Given the description of an element on the screen output the (x, y) to click on. 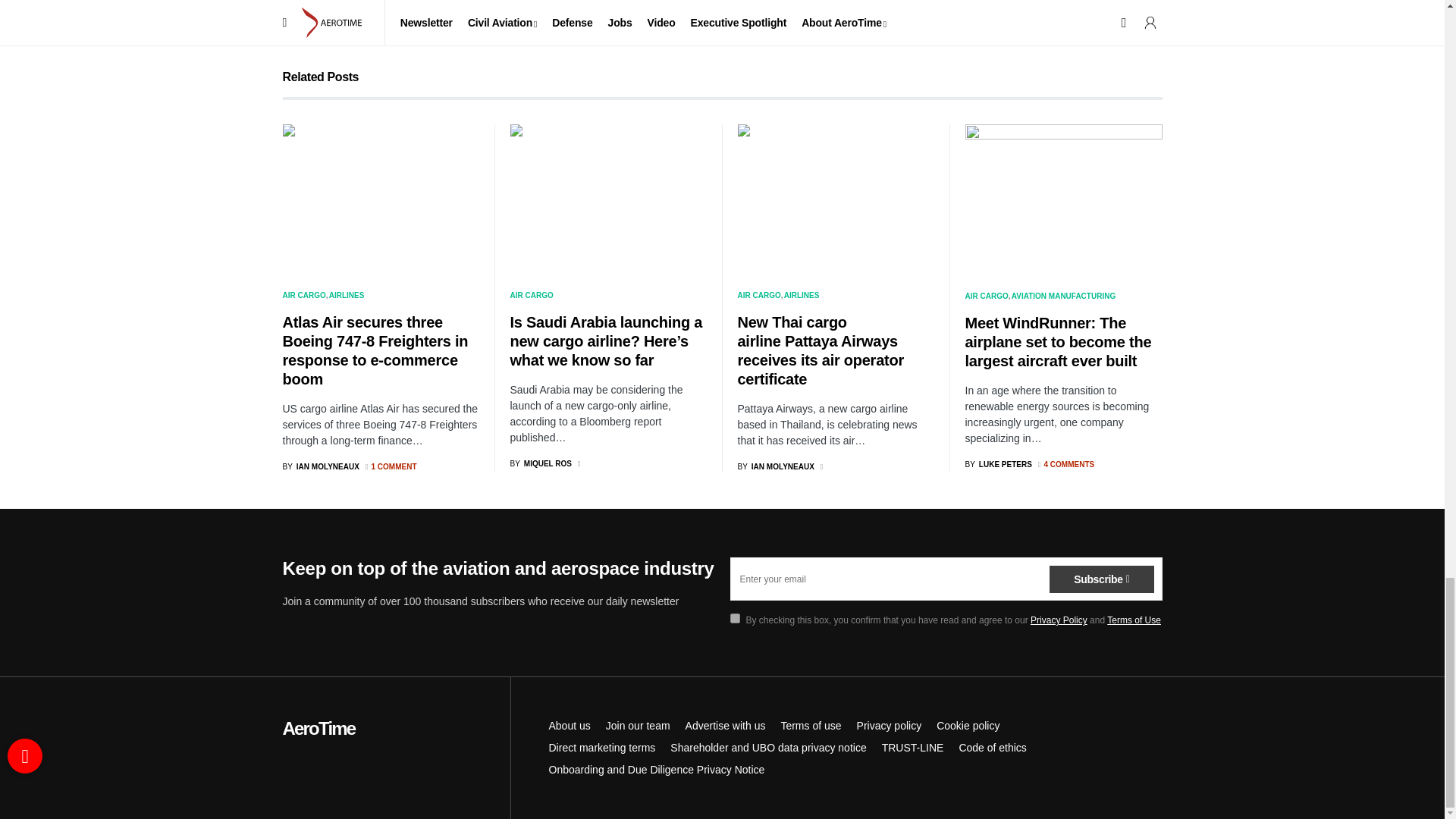
View all posts by Ian Molyneaux (774, 466)
on (734, 618)
View all posts by Luke Peters (996, 464)
View all posts by Ian Molyneaux (320, 466)
View all posts by Miquel Ros (540, 463)
